Given the description of an element on the screen output the (x, y) to click on. 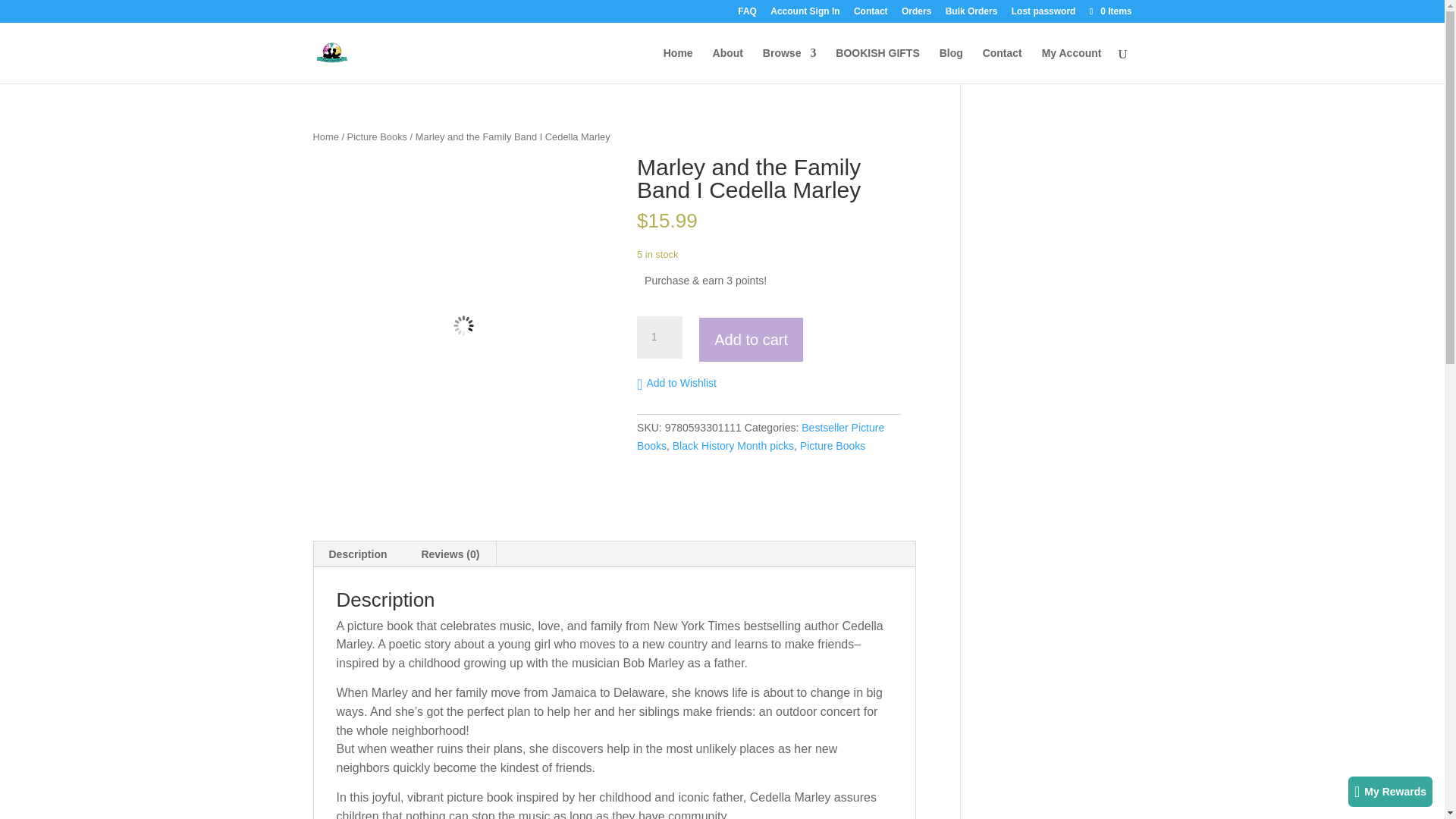
Black History Month picks (732, 445)
Contact (870, 14)
Lost password (1043, 14)
Account Sign In (805, 14)
Bestseller Picture Books (760, 436)
My Account (1072, 65)
Add to cart (751, 339)
FAQ (747, 14)
Browse (789, 65)
0 Items (1108, 10)
Picture Books (377, 136)
Orders (916, 14)
Contact (1002, 65)
Home (325, 136)
BOOKISH GIFTS (876, 65)
